Given the description of an element on the screen output the (x, y) to click on. 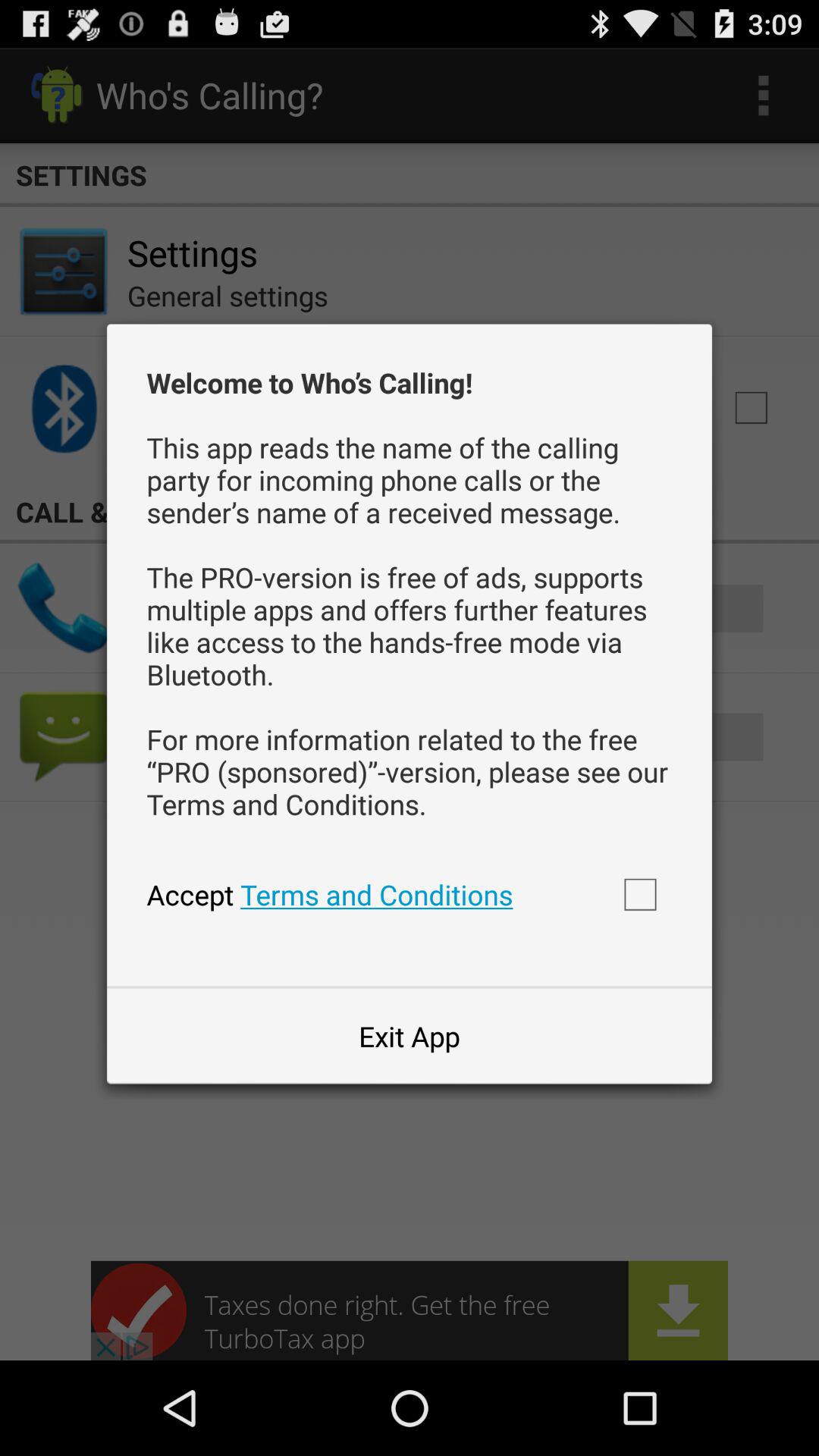
jump to exit app button (409, 1036)
